Given the description of an element on the screen output the (x, y) to click on. 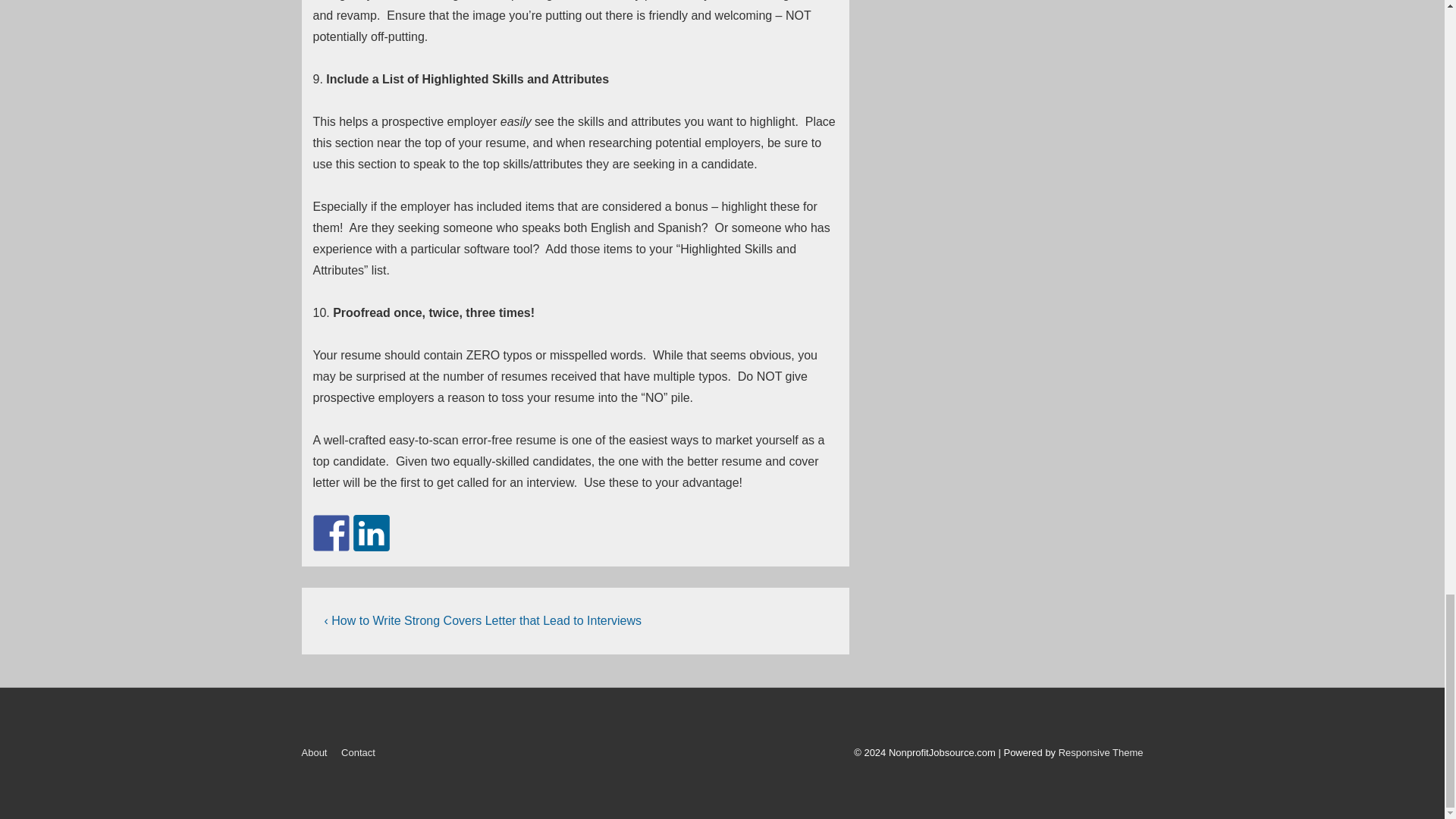
Responsive Theme (1100, 752)
Find us on Linkedin (371, 533)
Follow us on Facebook (331, 533)
About (314, 752)
Contact (357, 752)
